Given the description of an element on the screen output the (x, y) to click on. 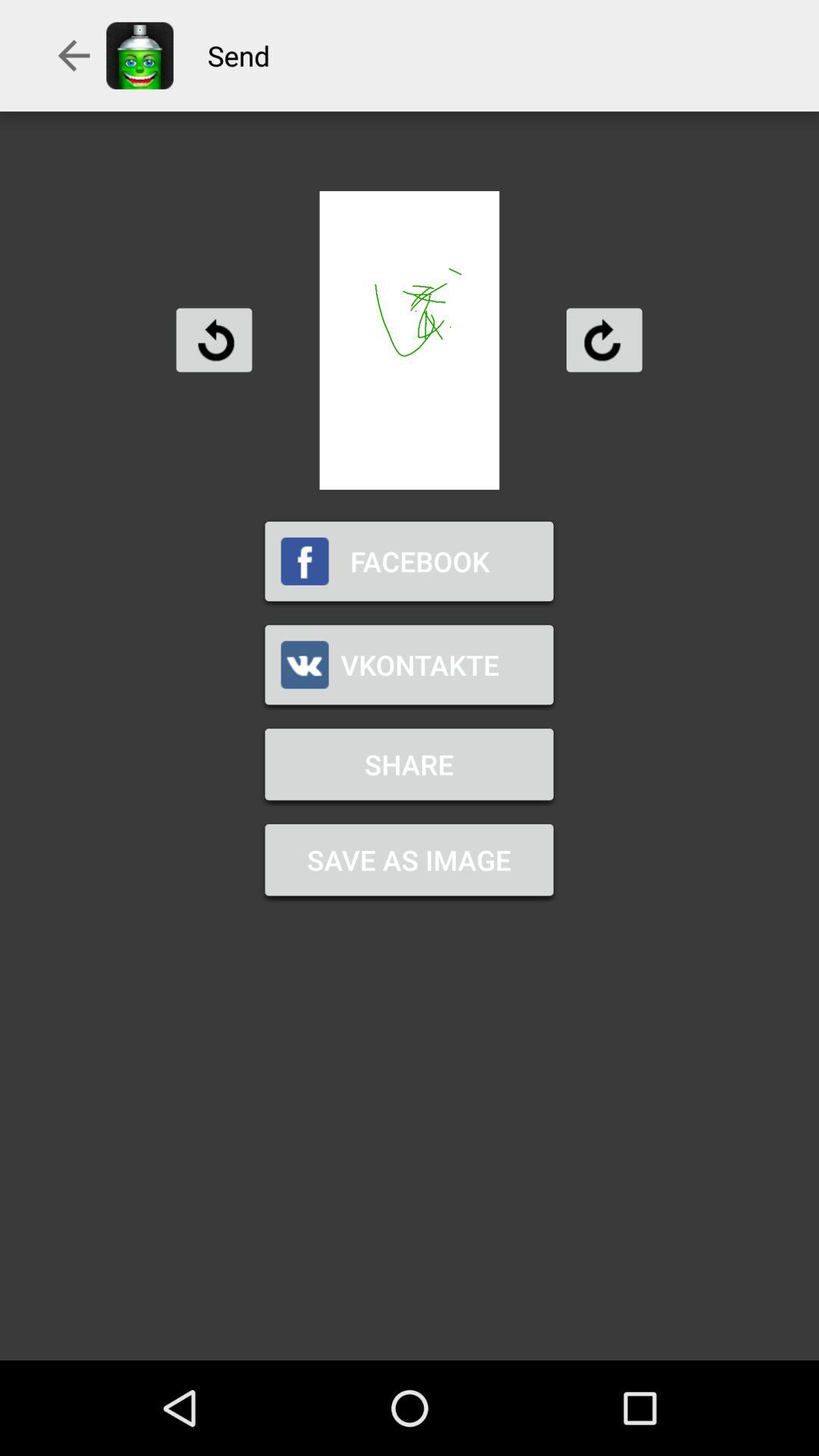
undo (213, 339)
